Given the description of an element on the screen output the (x, y) to click on. 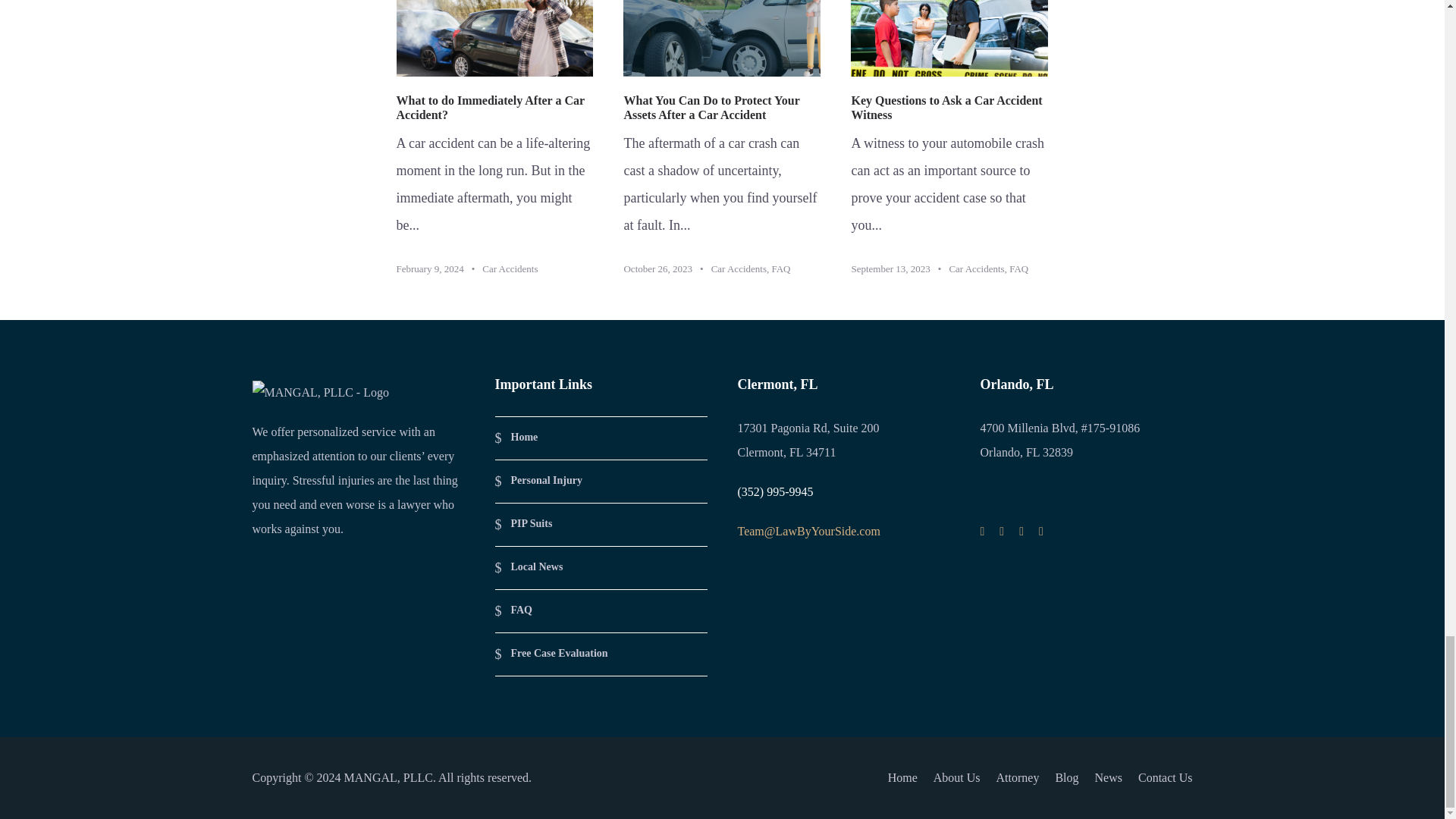
after-car-accident (494, 38)
